Given the description of an element on the screen output the (x, y) to click on. 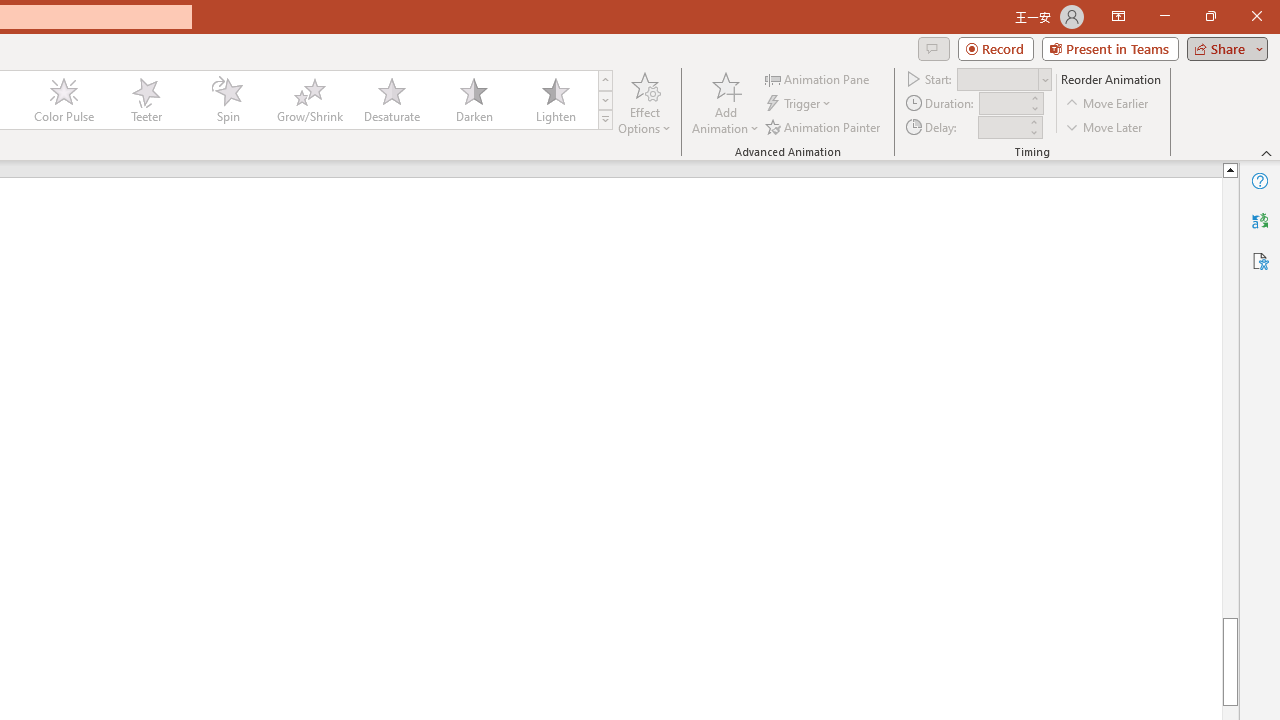
Animation Styles (605, 120)
Lighten (555, 100)
